Given the description of an element on the screen output the (x, y) to click on. 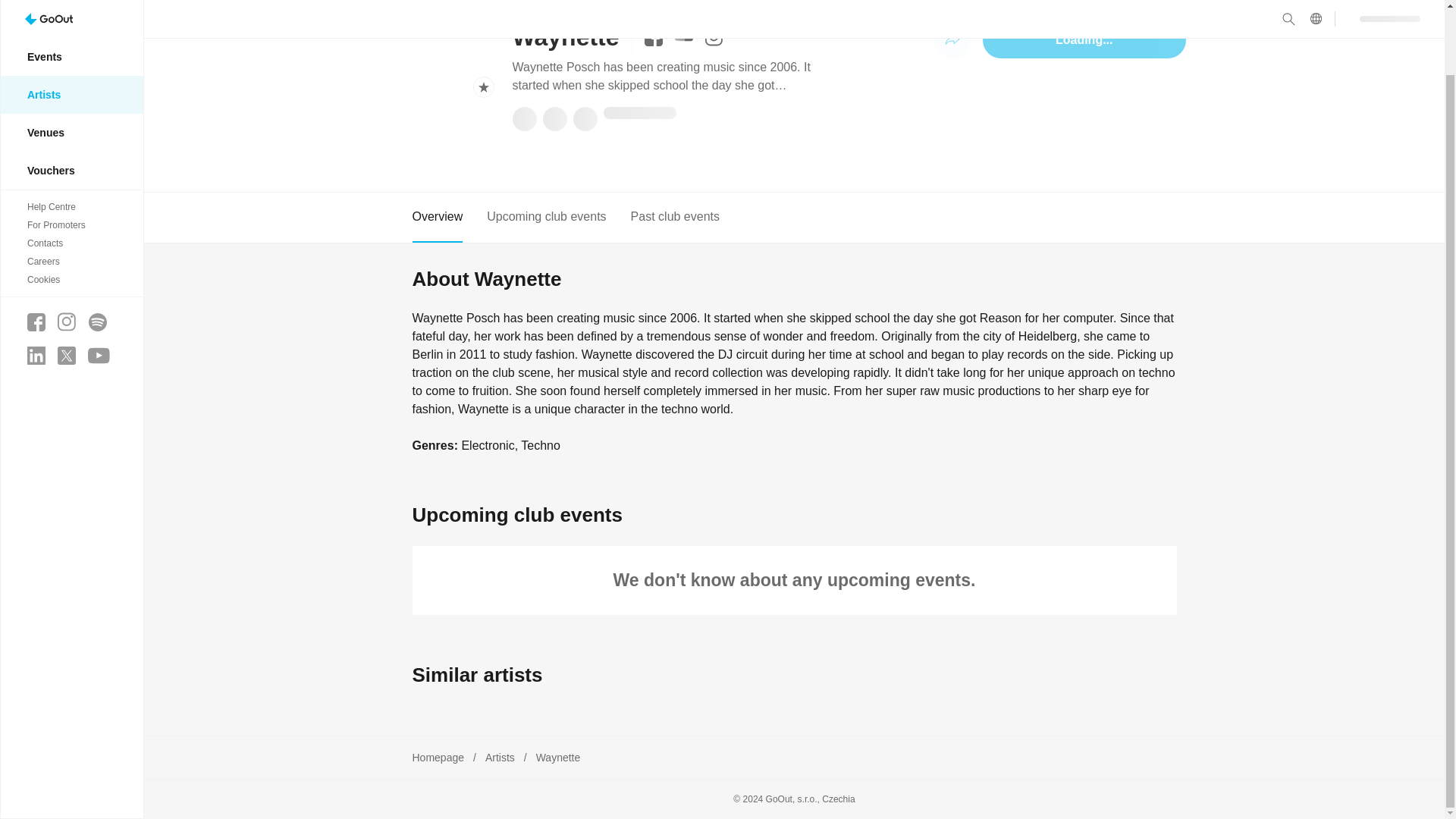
Past club events (674, 217)
Vouchers (71, 98)
Overview (437, 217)
Artists (71, 23)
Help Centre (71, 135)
For Promoters (71, 153)
Waynette (557, 757)
Homepage (438, 757)
Loading... (1084, 39)
Events (71, 2)
